Given the description of an element on the screen output the (x, y) to click on. 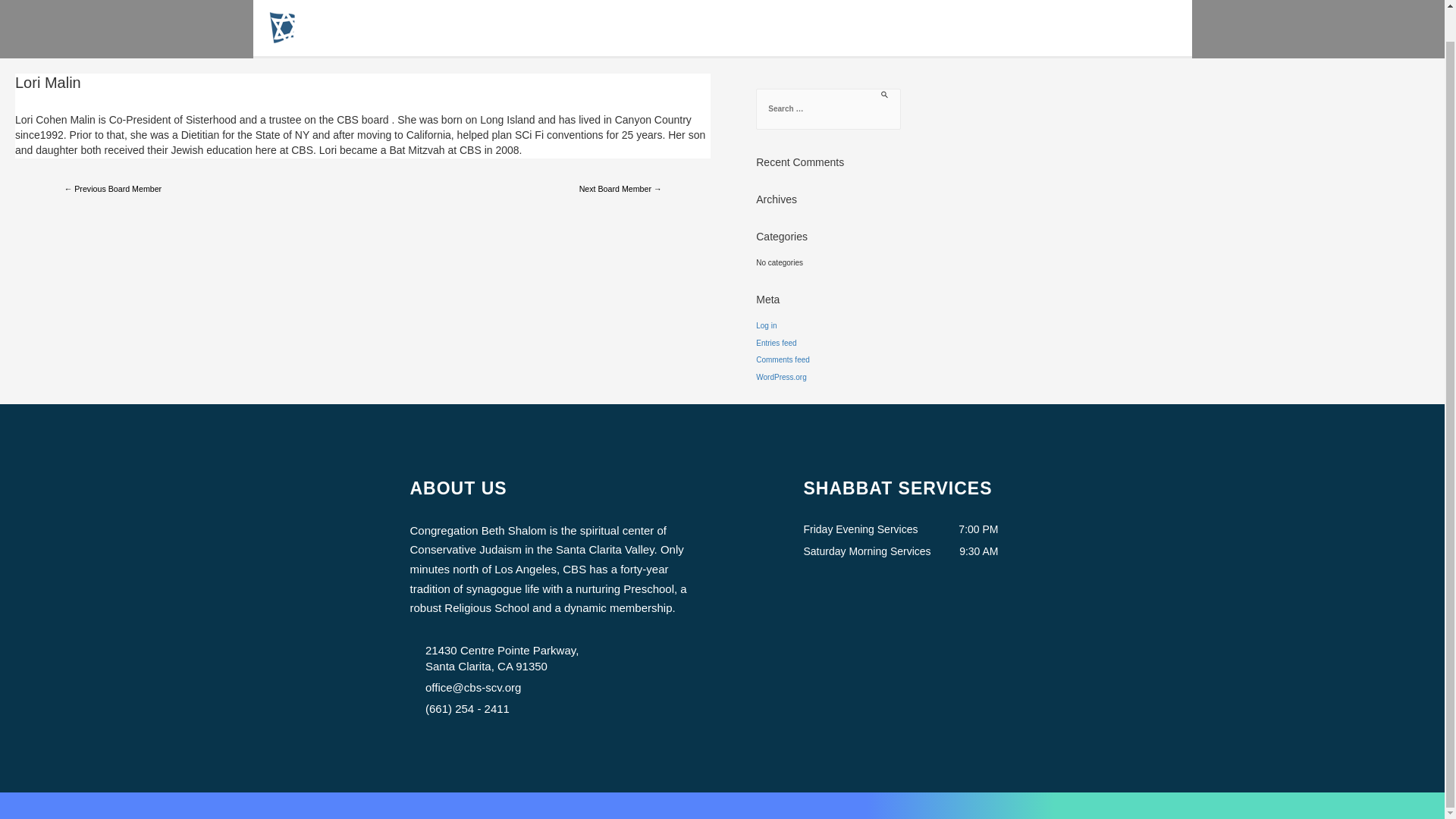
Search (1411, 105)
RAKEFET (1069, 28)
ABOUT (910, 28)
Search (1411, 105)
EVENTS (990, 28)
DONATE (1141, 28)
HOME (843, 28)
